Given the description of an element on the screen output the (x, y) to click on. 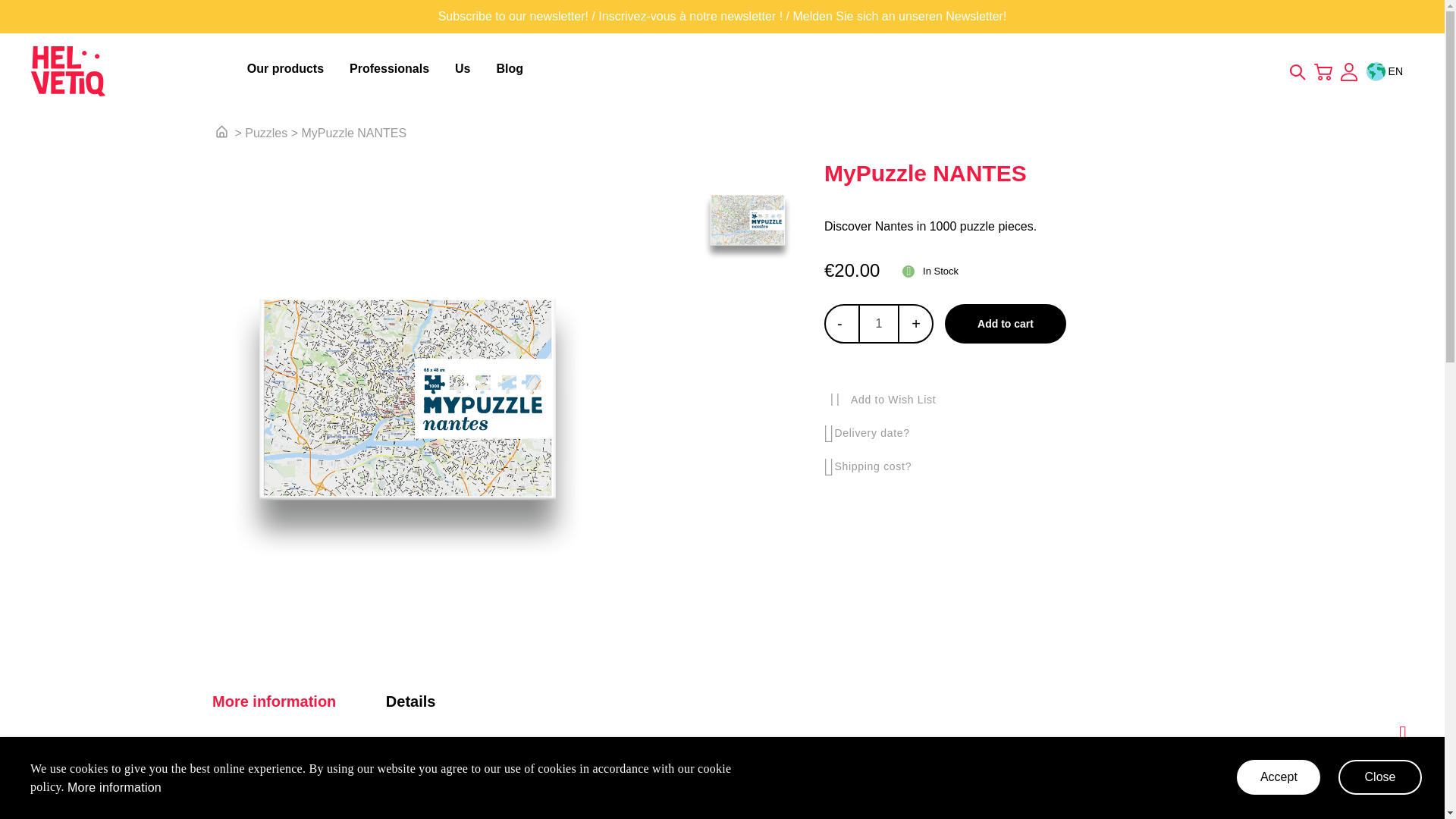
Us (464, 69)
Blog (509, 69)
- (839, 323)
Qty (879, 323)
Professionals (392, 69)
Our products (288, 69)
MyPuzzle NANTES (354, 132)
My Cart (1323, 70)
Helvetiq (68, 71)
Availability (930, 271)
Helvetiq (134, 71)
Sign In (1348, 72)
Puzzles (265, 132)
Add to cart (1004, 323)
1 (879, 323)
